Given the description of an element on the screen output the (x, y) to click on. 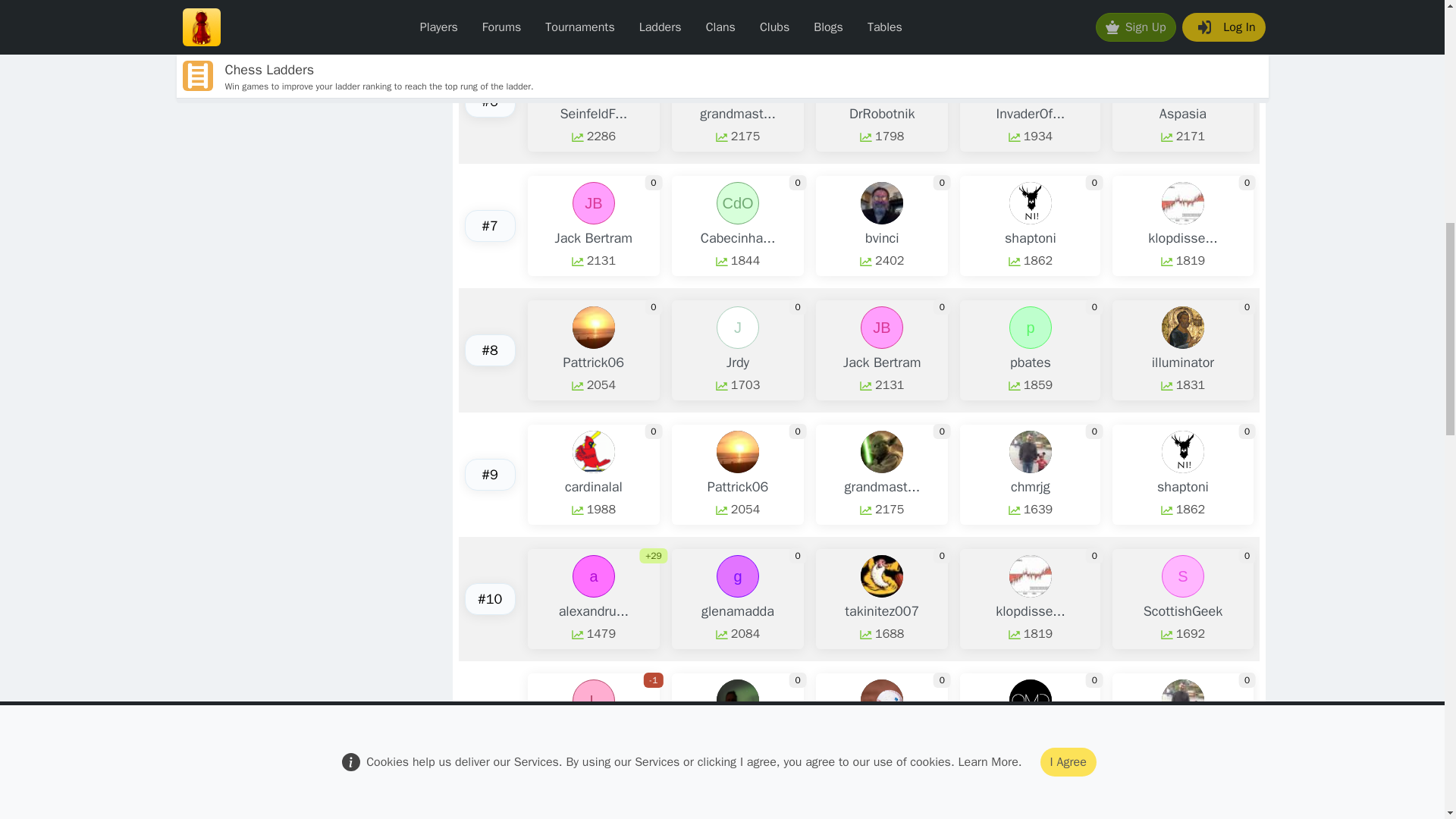
JB (593, 202)
D (881, 78)
J (737, 327)
s (737, 811)
a (593, 576)
L (593, 700)
S (1182, 576)
p (1030, 327)
JB (881, 327)
G (1182, 811)
